Given the description of an element on the screen output the (x, y) to click on. 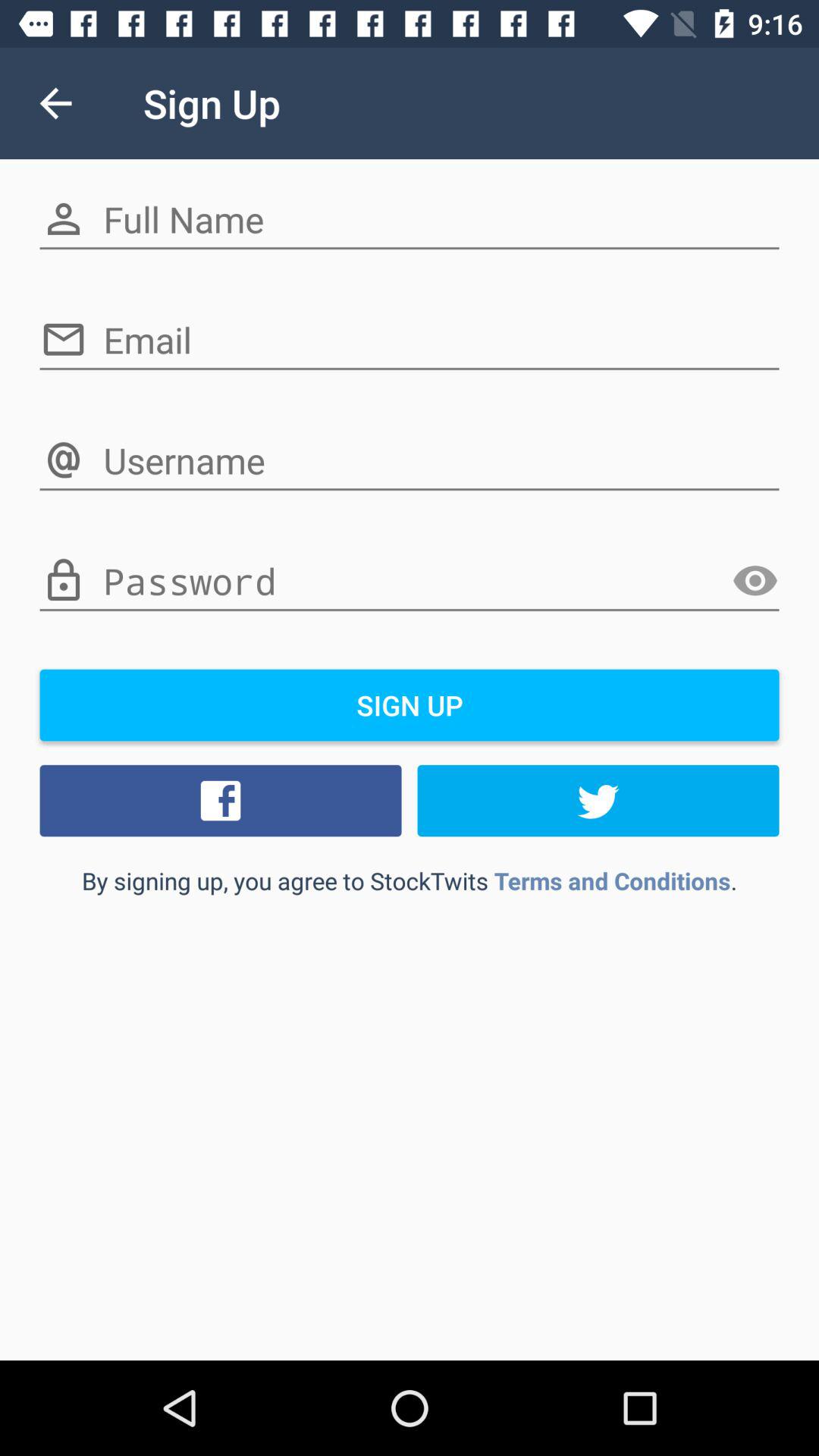
scroll until the by signing up icon (409, 880)
